Given the description of an element on the screen output the (x, y) to click on. 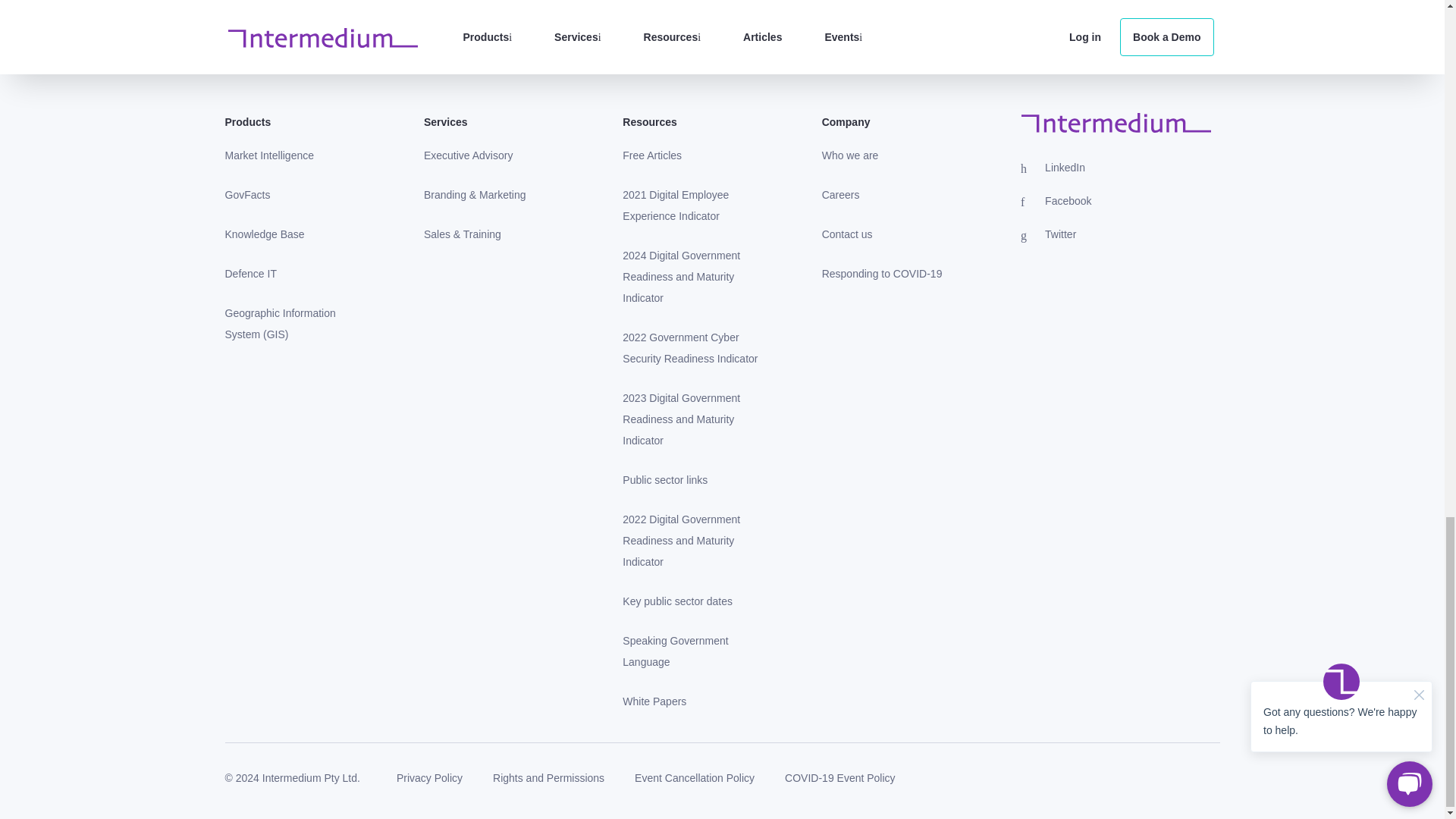
Centralised market intelligence for suppliers to government (269, 154)
Insights into the public sector GIS market (293, 323)
Feel comfortable inside the public sector tent (691, 651)
Specialist support for all aspects of government sales (461, 233)
Key legislative dates in every jurisdiction (676, 601)
Executive insights to guide your business direction (468, 154)
Multi-lens view of the Australian Defence ICT market (250, 273)
Options to build presence and network with government (474, 194)
Agency data at federal, state and territory levels (247, 194)
Annual measure of readiness in all jurisdictions (691, 540)
Relevant government ICT reports free to download (654, 701)
